Given the description of an element on the screen output the (x, y) to click on. 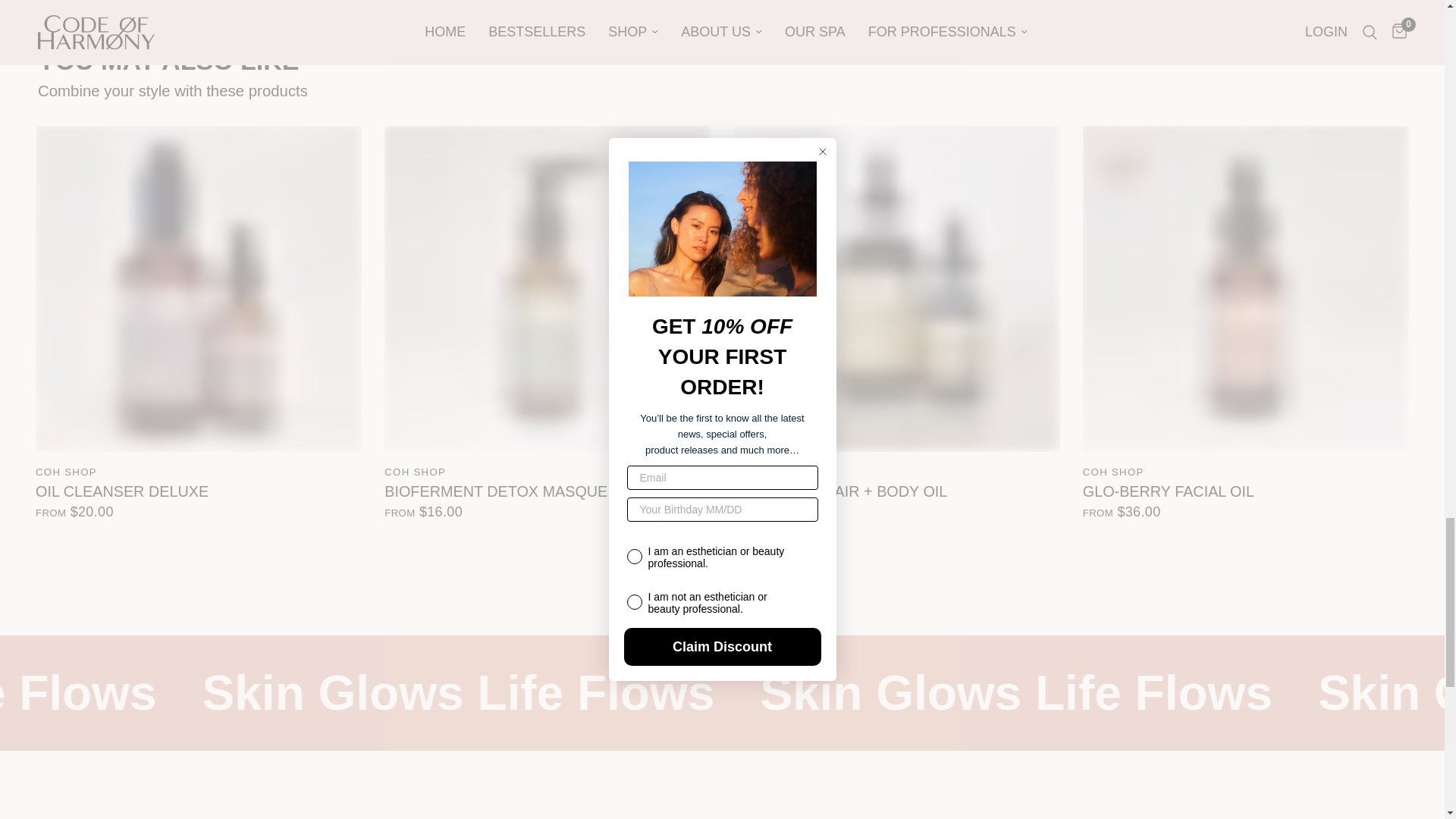
Skin Glows Life Flows (884, 693)
Skin Glows Life Flows (328, 693)
Skin Glows Life Flows (26, 693)
